Given the description of an element on the screen output the (x, y) to click on. 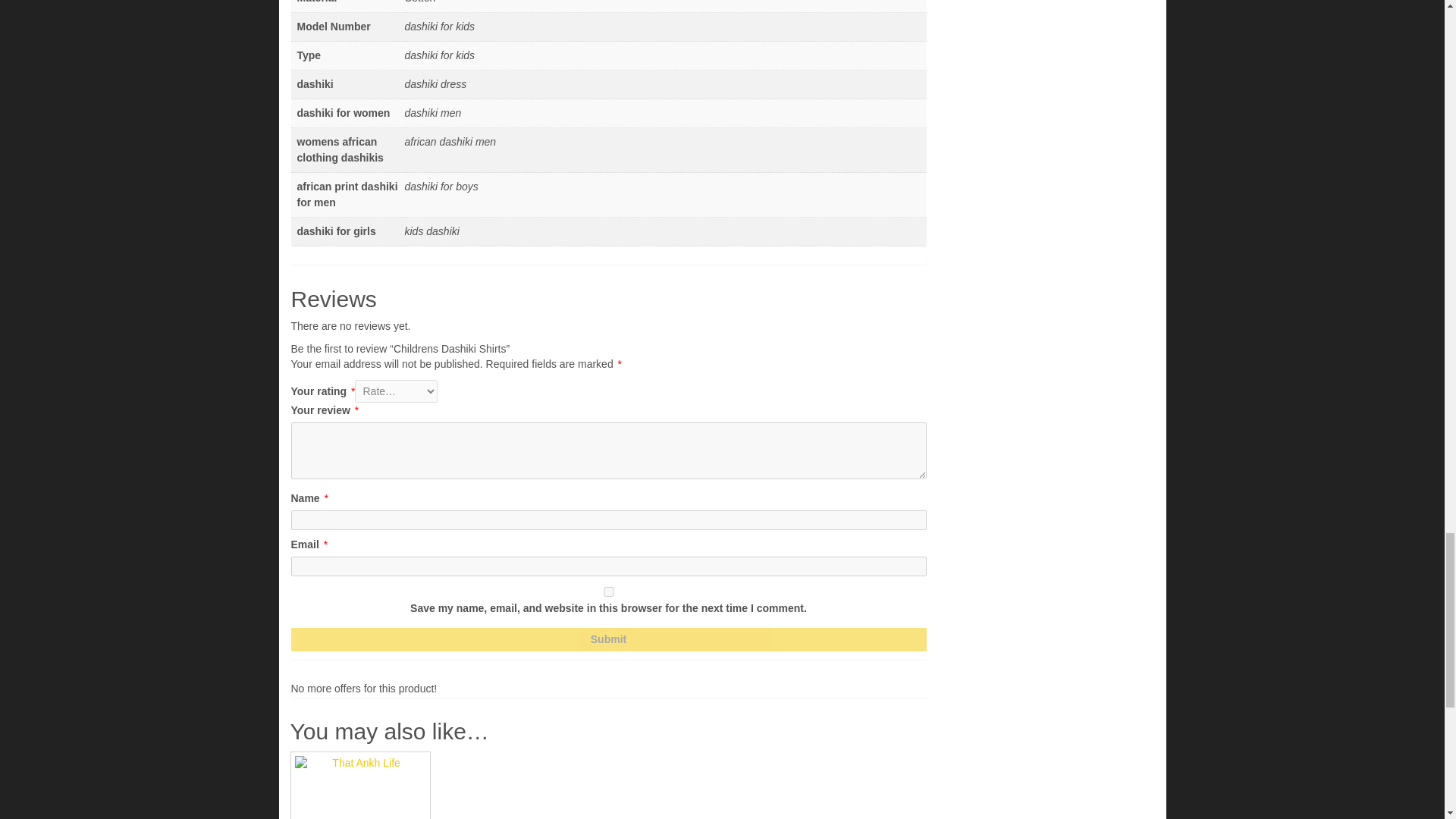
yes (608, 592)
Submit (608, 639)
